Given the description of an element on the screen output the (x, y) to click on. 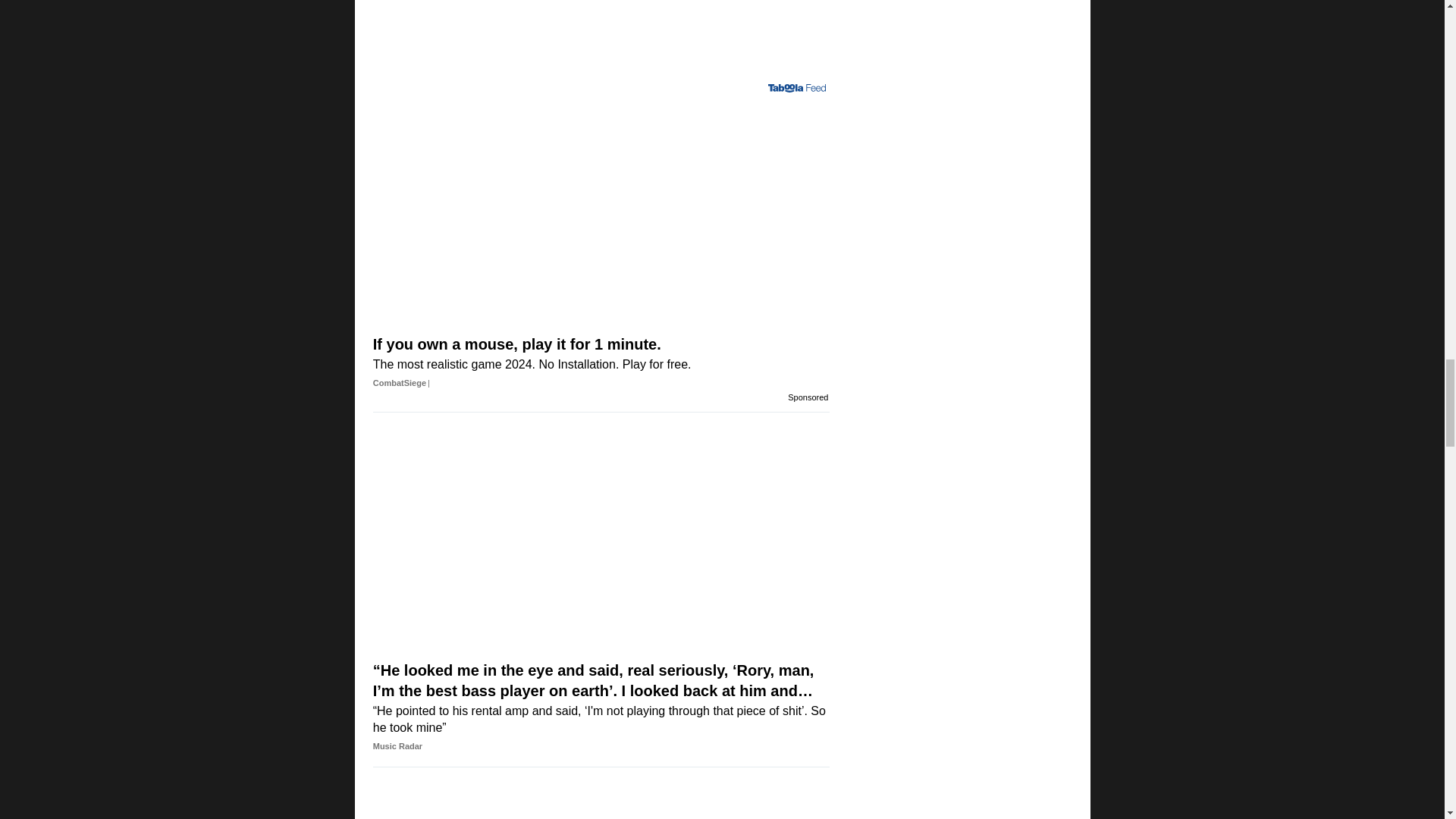
If you own a mouse, play it for 1 minute. (600, 154)
If you own a mouse, play it for 1 minute. (600, 301)
